Given the description of an element on the screen output the (x, y) to click on. 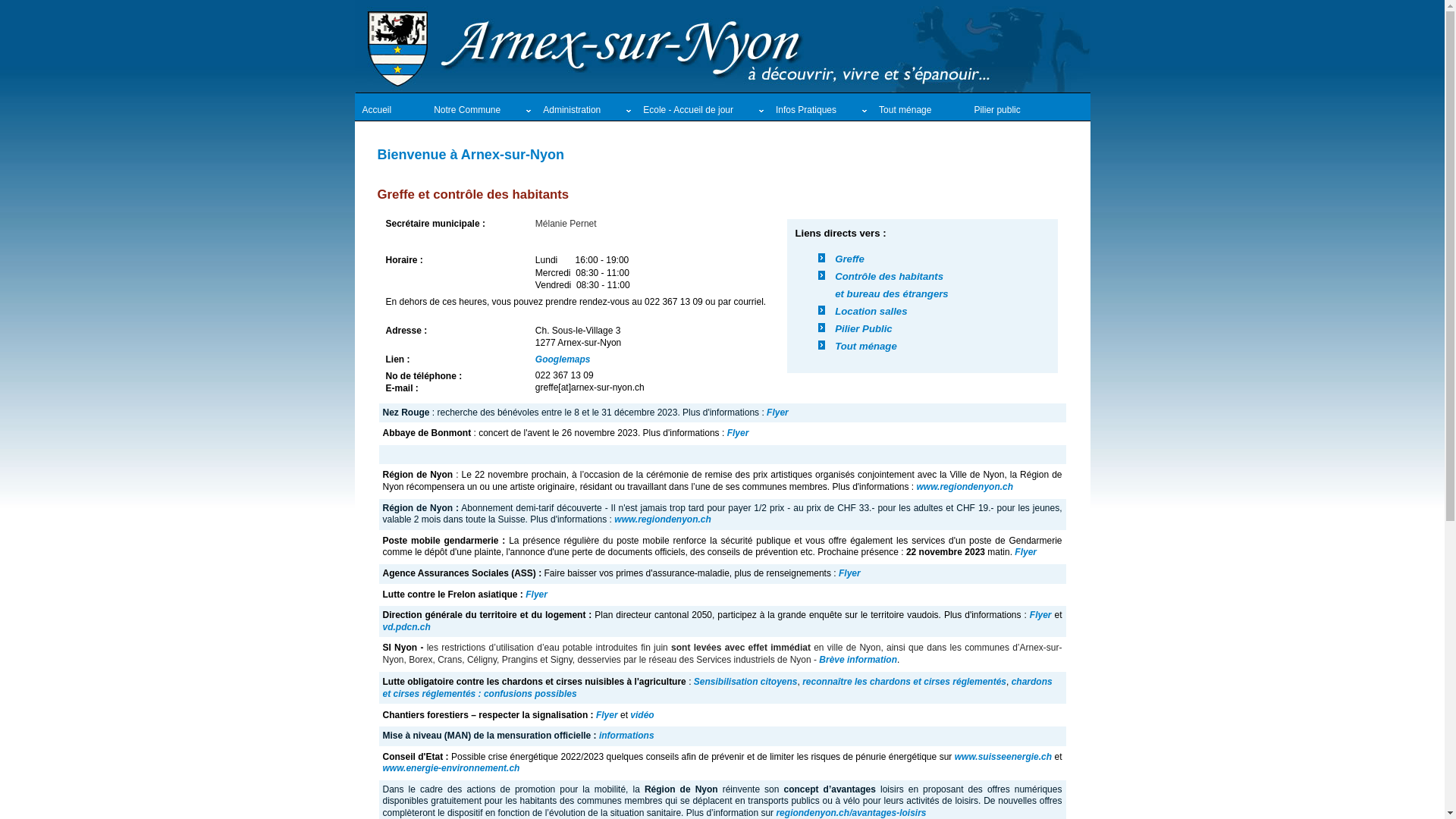
Flyer Element type: text (536, 594)
Flyer Element type: text (1040, 614)
Infos Pratiques Element type: text (819, 110)
Flyer Element type: text (1025, 551)
www.energie-environnement.ch Element type: text (450, 767)
Flyer Element type: text (849, 572)
Googlemaps Element type: text (562, 359)
regiondenyon.ch/avantages-loisirs Element type: text (850, 812)
Flyer Element type: text (607, 714)
www.regiondenyon.ch Element type: text (662, 519)
Ecole - Accueil de jour Element type: text (701, 110)
vd.pdcn.ch Element type: text (405, 626)
Greffe Element type: text (849, 258)
Pilier Public Element type: text (863, 328)
Administration Element type: text (585, 110)
www.suisseenergie.ch Element type: text (1002, 756)
Pilier public Element type: text (1010, 110)
Notre Commune Element type: text (480, 110)
Location salles Element type: text (870, 310)
informations Element type: text (626, 735)
Flyer Element type: text (777, 412)
Flyer Element type: text (738, 432)
Accueil Element type: text (390, 110)
Sensibilisation citoyens Element type: text (745, 681)
www.regiondenyon.ch Element type: text (964, 486)
